Given the description of an element on the screen output the (x, y) to click on. 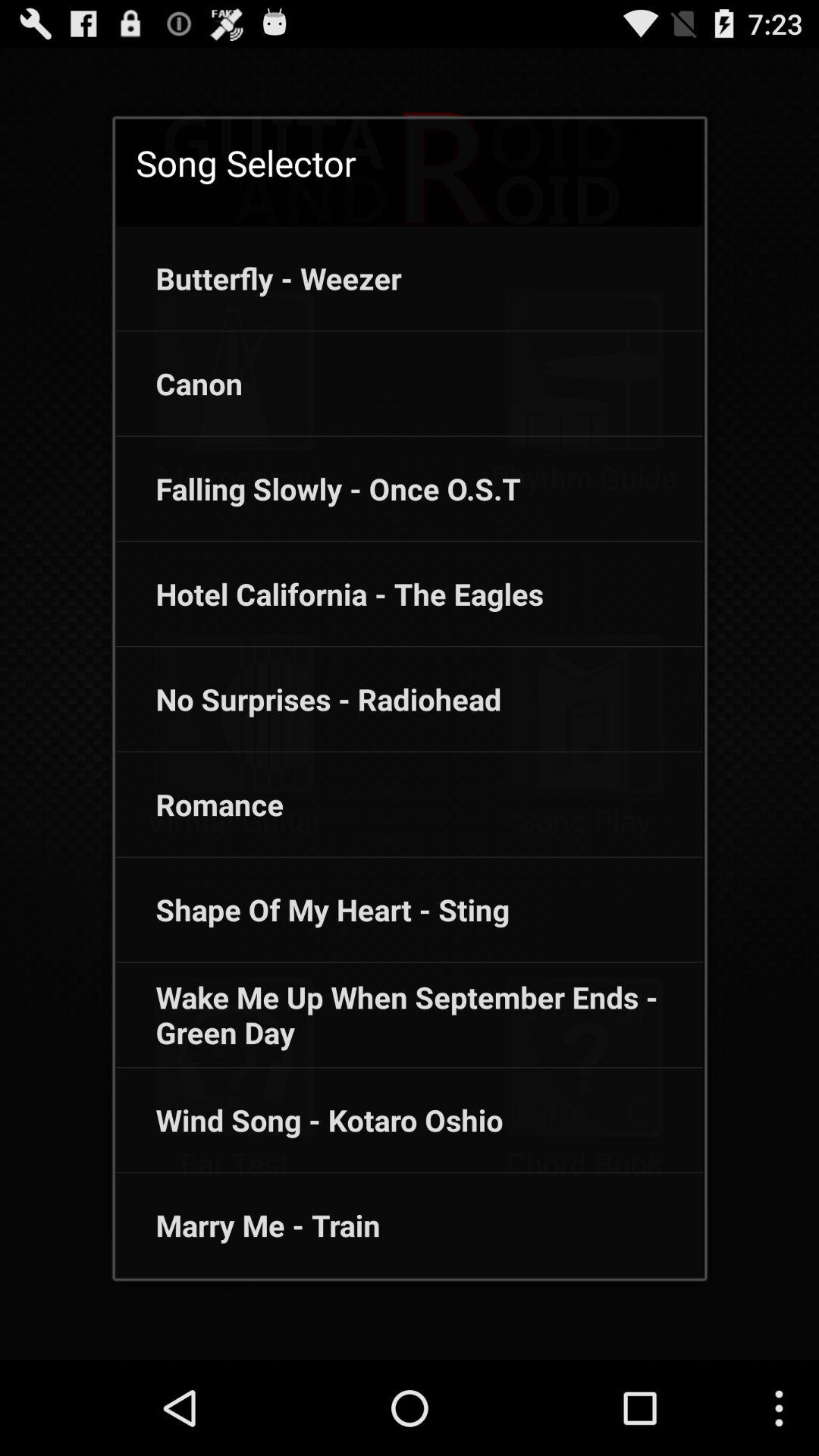
select icon above the shape of my icon (199, 804)
